Given the description of an element on the screen output the (x, y) to click on. 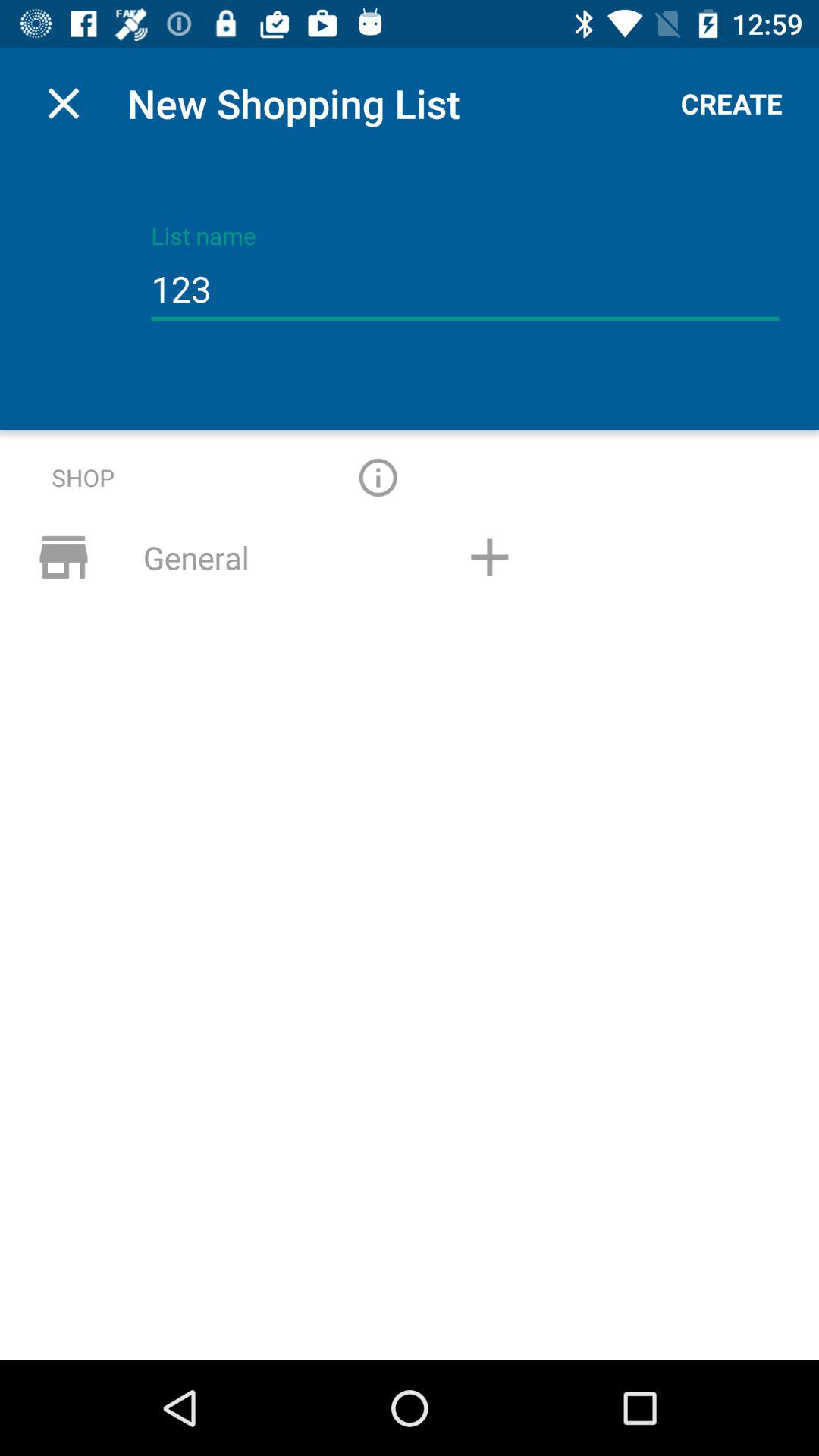
close app (63, 103)
